Given the description of an element on the screen output the (x, y) to click on. 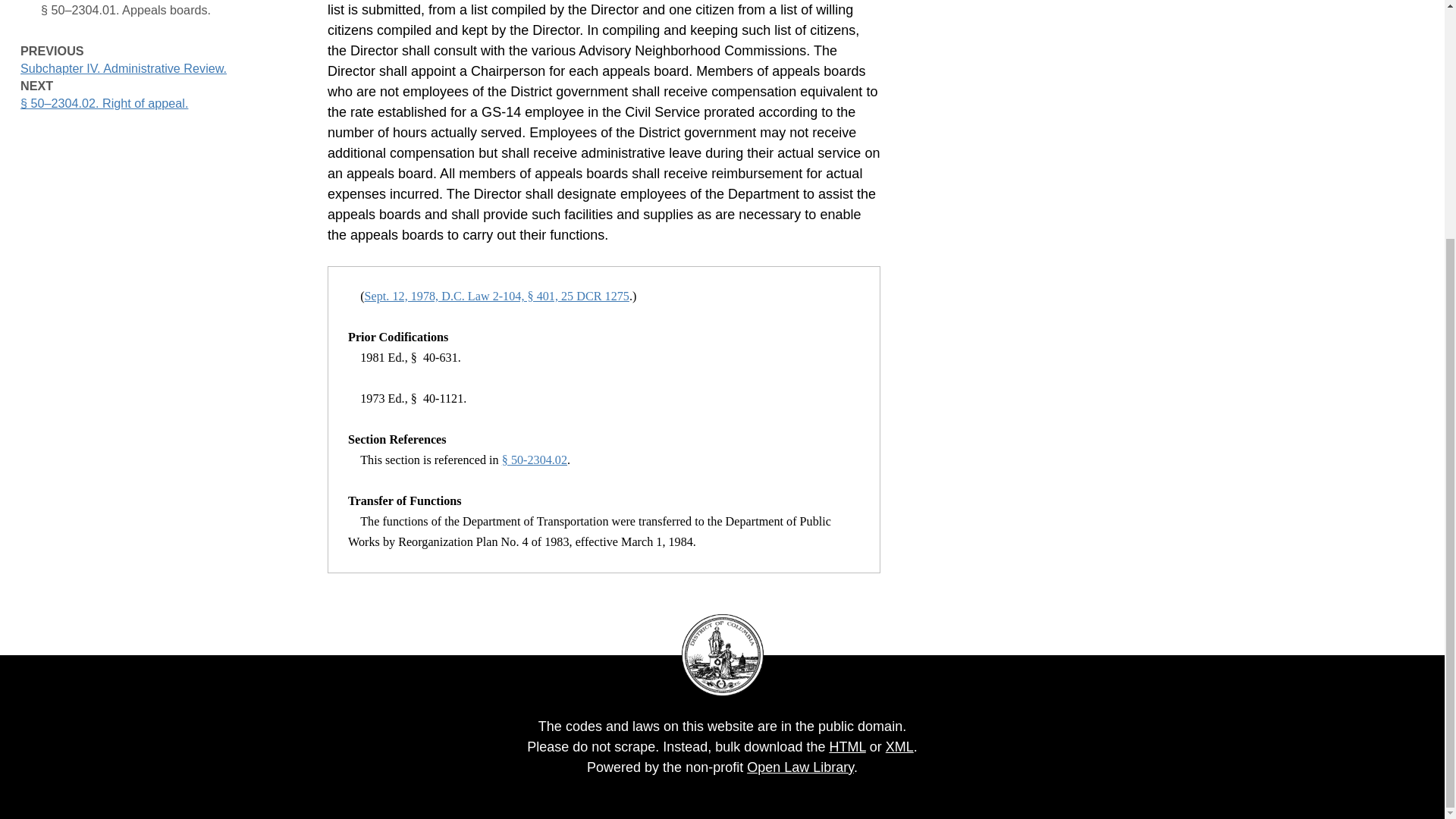
XML (899, 746)
Open Law Library (799, 767)
HTML (846, 746)
